Given the description of an element on the screen output the (x, y) to click on. 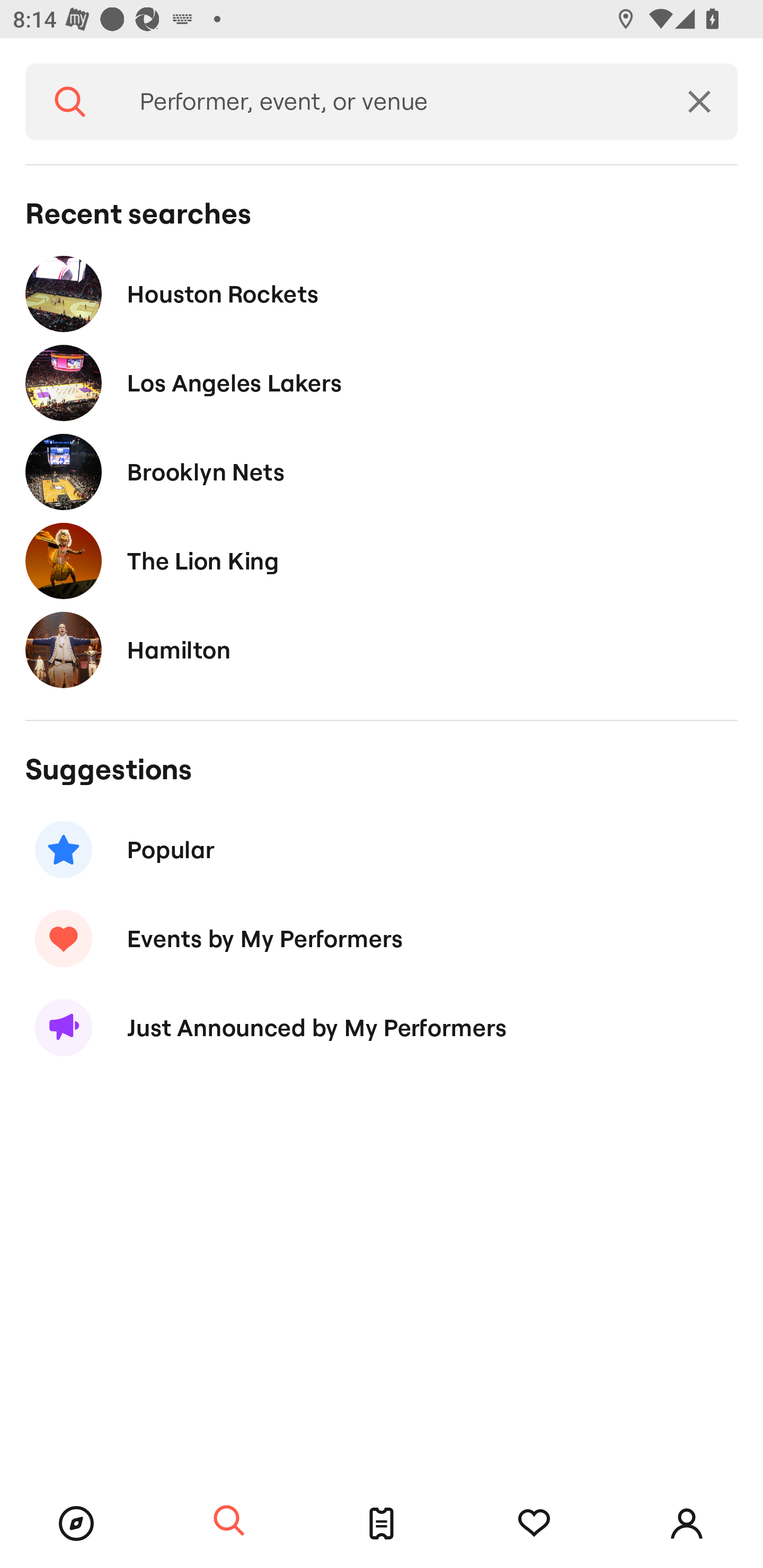
Search (69, 101)
Performer, event, or venue (387, 101)
Clear (699, 101)
Houston Rockets (381, 293)
Los Angeles Lakers (381, 383)
Brooklyn Nets (381, 471)
The Lion King (381, 560)
Hamilton (381, 649)
Popular (381, 849)
Events by My Performers (381, 938)
Just Announced by My Performers (381, 1027)
Browse (76, 1523)
Search (228, 1521)
Tickets (381, 1523)
Tracking (533, 1523)
Account (686, 1523)
